Given the description of an element on the screen output the (x, y) to click on. 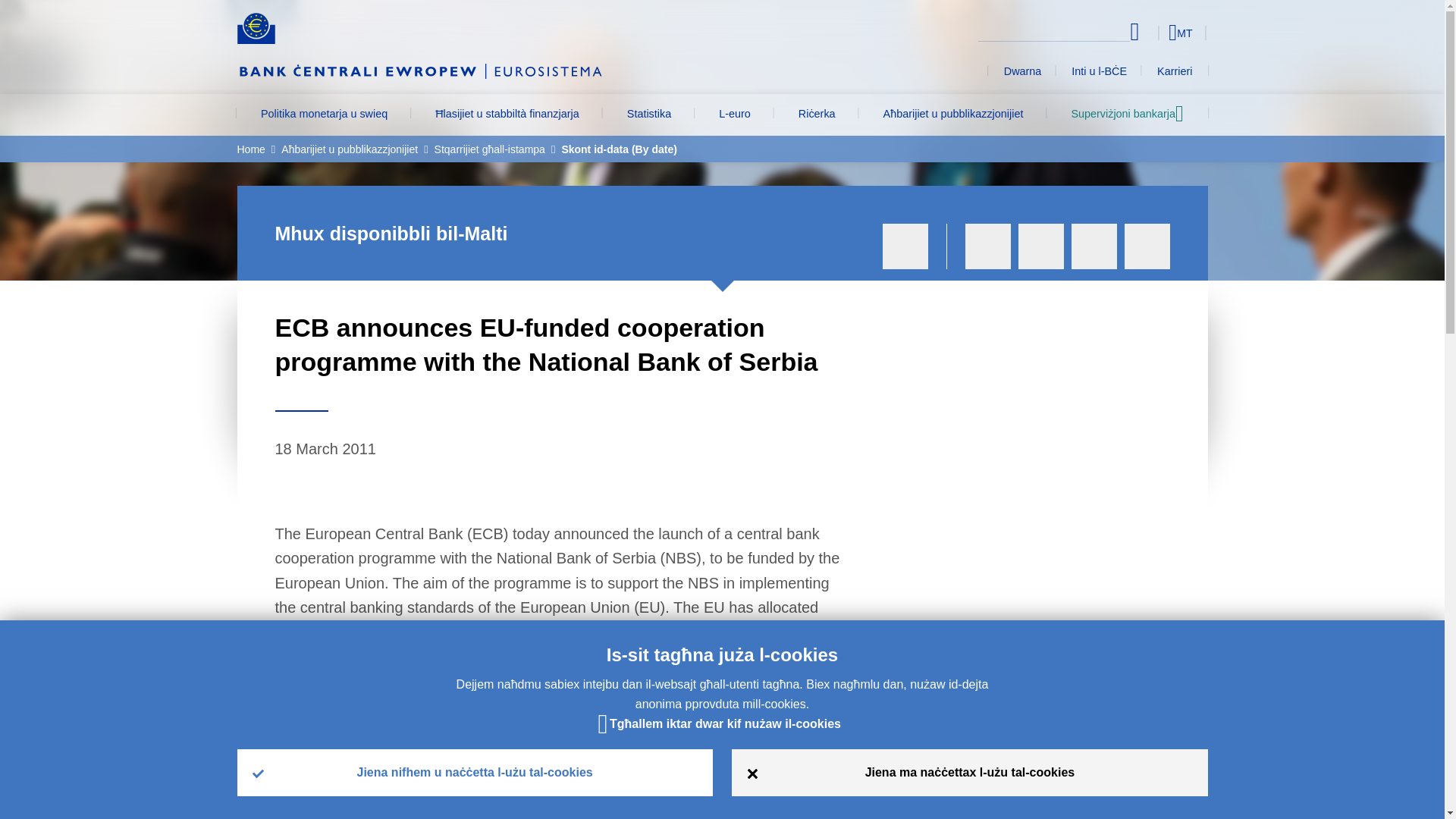
Politika monetarja u swieq (322, 114)
Select language (1153, 32)
